Given the description of an element on the screen output the (x, y) to click on. 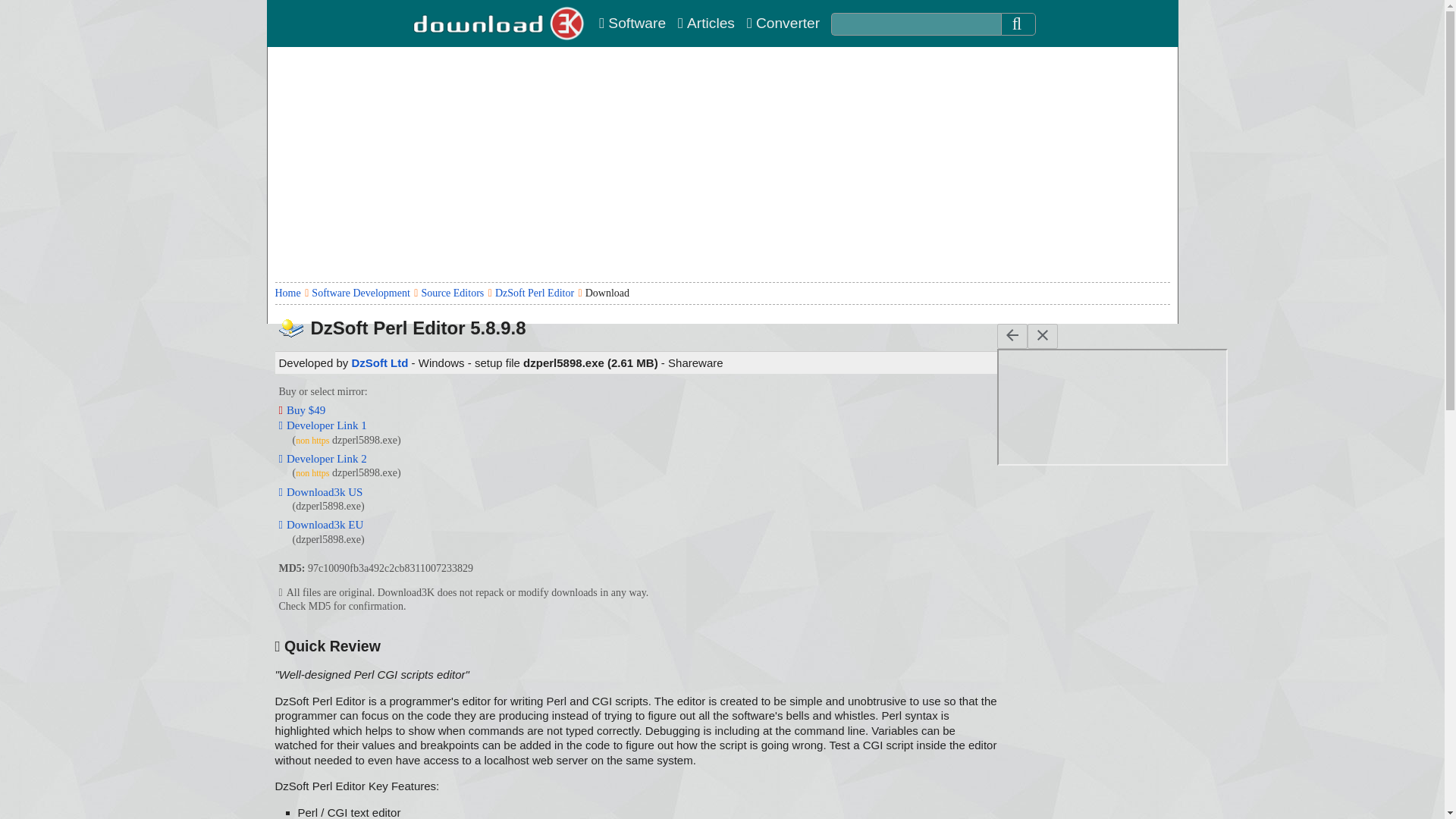
Converter (783, 23)
Download3k US (320, 491)
Software Development (360, 292)
Software (632, 23)
DzSoft Ltd (378, 362)
Download3k EU (321, 524)
Developer Link 2 (322, 458)
Homepage (500, 23)
Search (1018, 24)
